Given the description of an element on the screen output the (x, y) to click on. 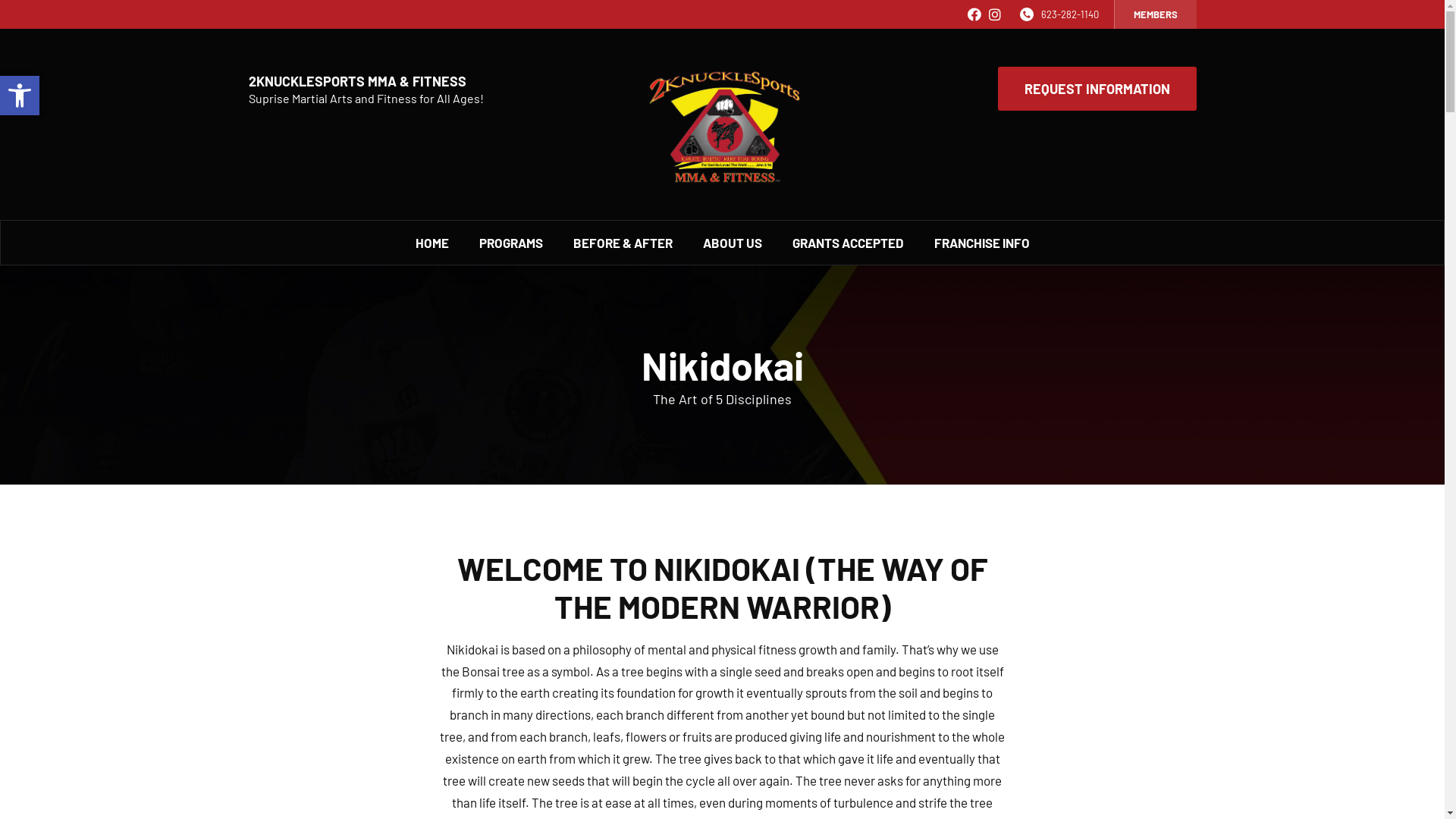
ABOUT US Element type: text (731, 242)
MEMBERS Element type: text (1154, 14)
FRANCHISE INFO Element type: text (981, 242)
623-282-1140 Element type: text (1069, 14)
BEFORE & AFTER Element type: text (622, 242)
GRANTS ACCEPTED Element type: text (847, 242)
REQUEST INFORMATION Element type: text (1096, 88)
HOME Element type: text (432, 242)
PROGRAMS Element type: text (511, 242)
Open toolbar
Accessibility Tools Element type: text (19, 95)
